Given the description of an element on the screen output the (x, y) to click on. 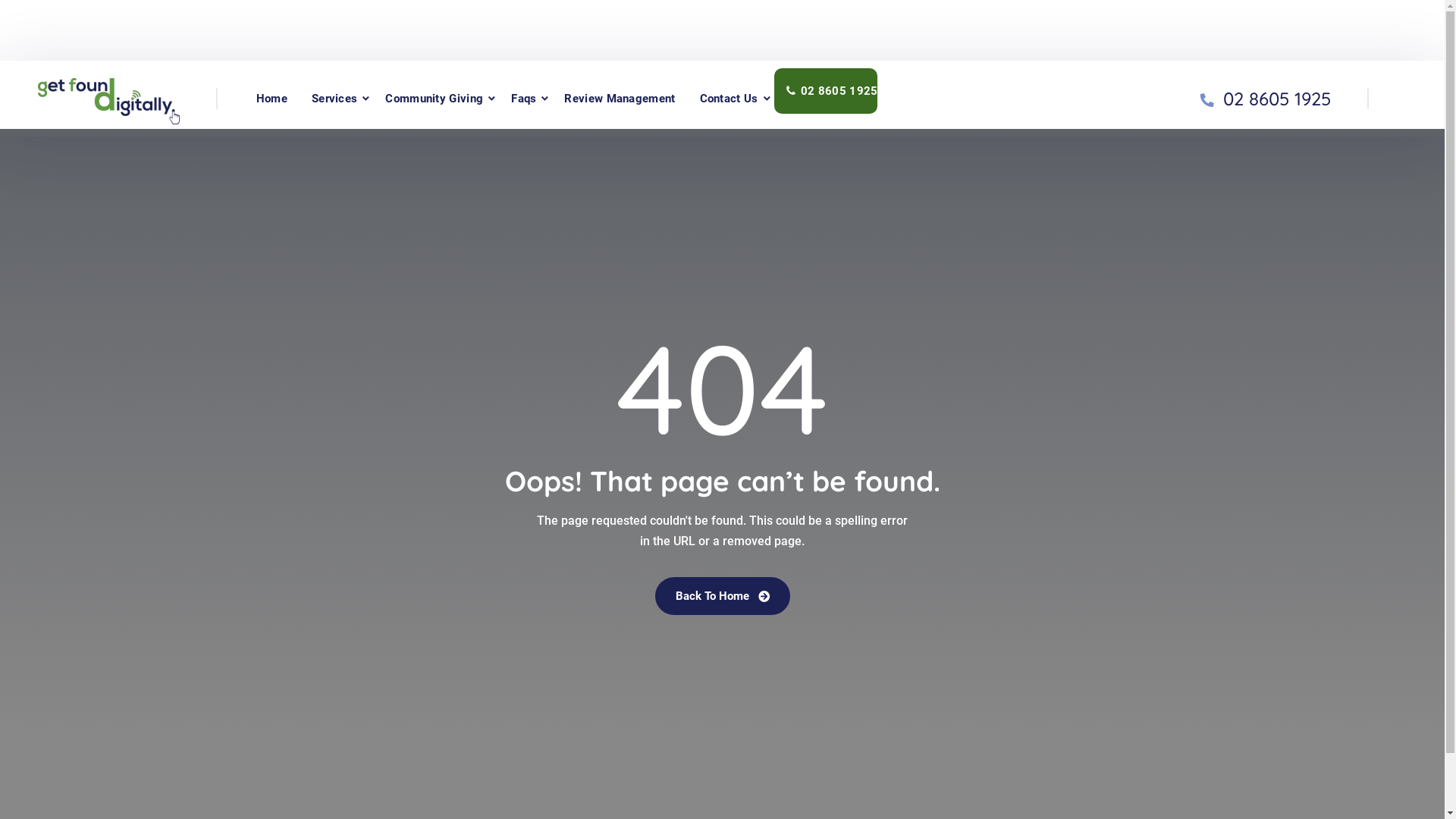
Review Management Element type: text (619, 98)
02 8605 1925 Element type: text (1276, 98)
Faqs Element type: text (523, 98)
02 8605 1925 Element type: text (826, 90)
Back To Home Element type: text (722, 596)
Services Element type: text (334, 98)
Community Giving Element type: text (434, 98)
Home Element type: text (271, 98)
Getfound Digitally Element type: hover (108, 97)
Contact Us Element type: text (728, 98)
